Given the description of an element on the screen output the (x, y) to click on. 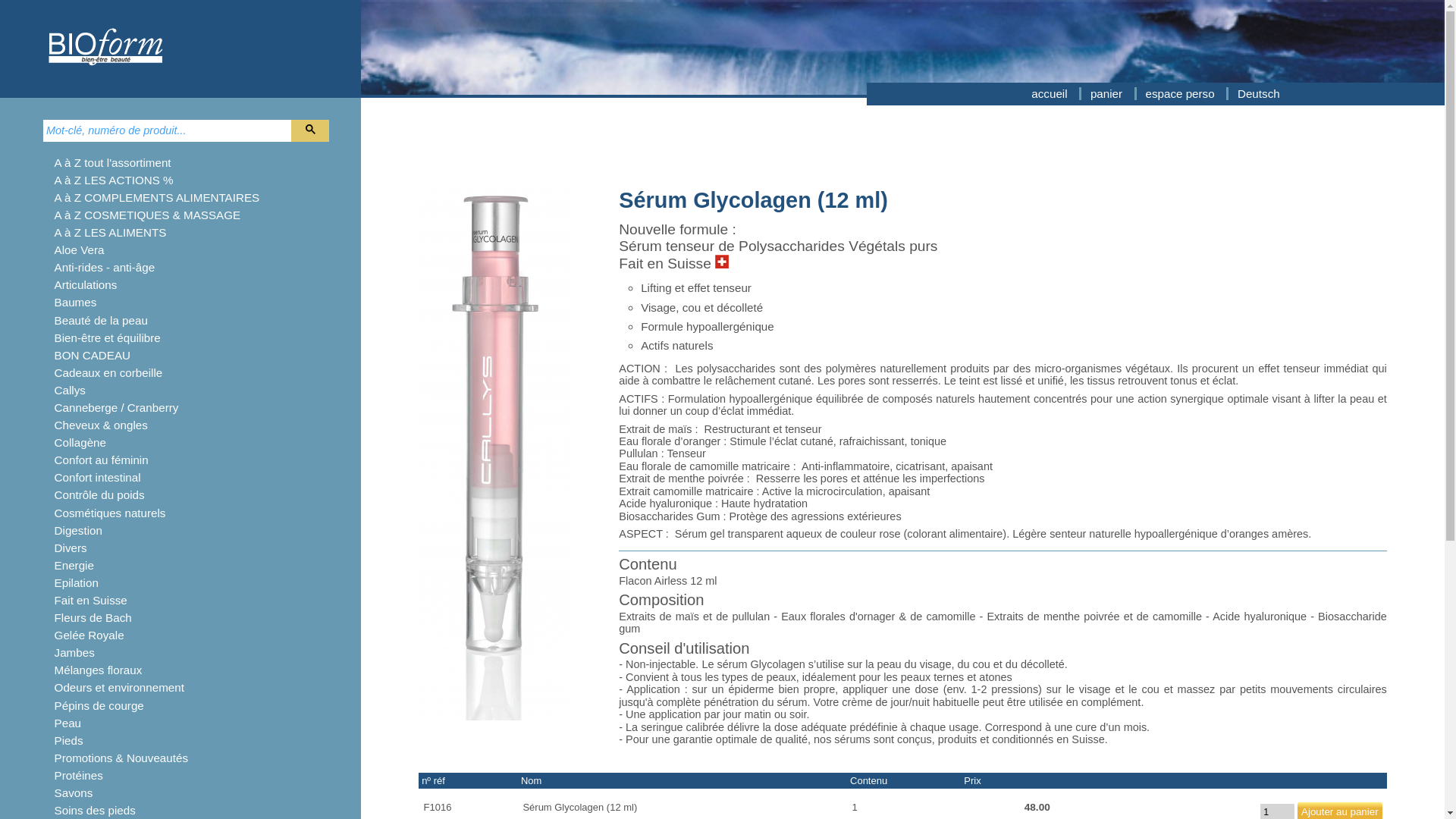
Cheveux & ongles Element type: text (100, 424)
Rechercher Element type: text (310, 130)
Epilation Element type: text (76, 582)
Canneberge / Cranberry Element type: text (116, 407)
Pieds Element type: text (68, 740)
Peau Element type: text (67, 722)
Odeurs et environnement Element type: text (119, 686)
Energie Element type: text (74, 564)
Articulations Element type: text (85, 284)
Fait en Suisse Element type: text (90, 599)
panier Element type: text (1107, 93)
accueil Element type: text (1050, 93)
BON CADEAU Element type: text (92, 354)
Digestion Element type: text (78, 530)
Savons Element type: text (73, 792)
Jambes Element type: text (74, 652)
Callys Element type: text (69, 389)
Aloe Vera Element type: text (79, 249)
Soins des pieds Element type: text (94, 809)
Deutsch Element type: text (1258, 93)
Baumes Element type: text (75, 301)
Divers Element type: text (70, 547)
Fleurs de Bach Element type: text (92, 617)
espace perso Element type: text (1181, 93)
Cadeaux en corbeille Element type: text (108, 372)
Confort intestinal Element type: text (97, 476)
